Given the description of an element on the screen output the (x, y) to click on. 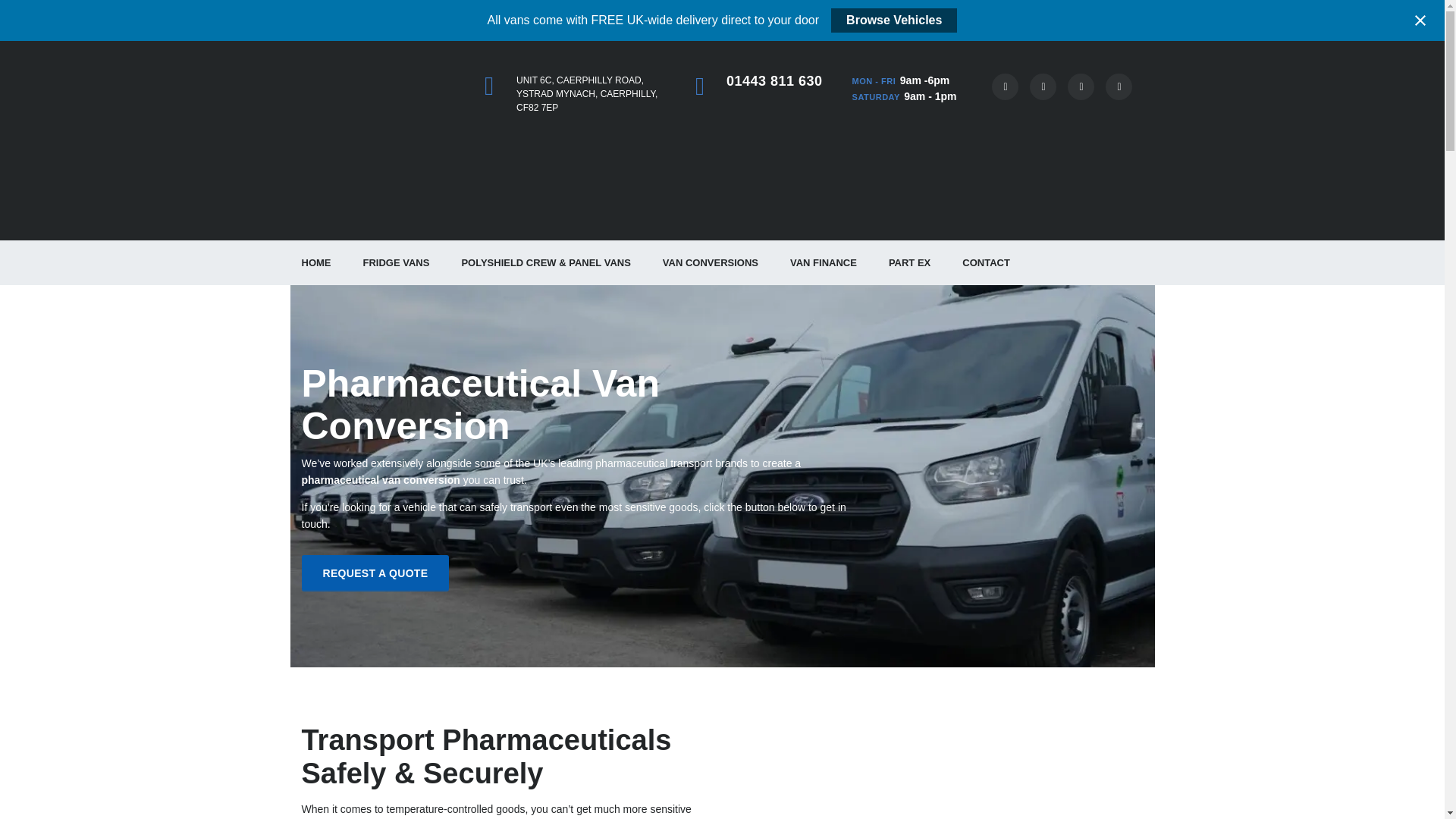
FRIDGE VANS (396, 262)
HOME (315, 262)
9am - 1pm (930, 96)
01443 811 630 (774, 80)
9am -6pm (924, 80)
REQUEST A QUOTE (375, 572)
Browse Vehicles (893, 20)
